Given the description of an element on the screen output the (x, y) to click on. 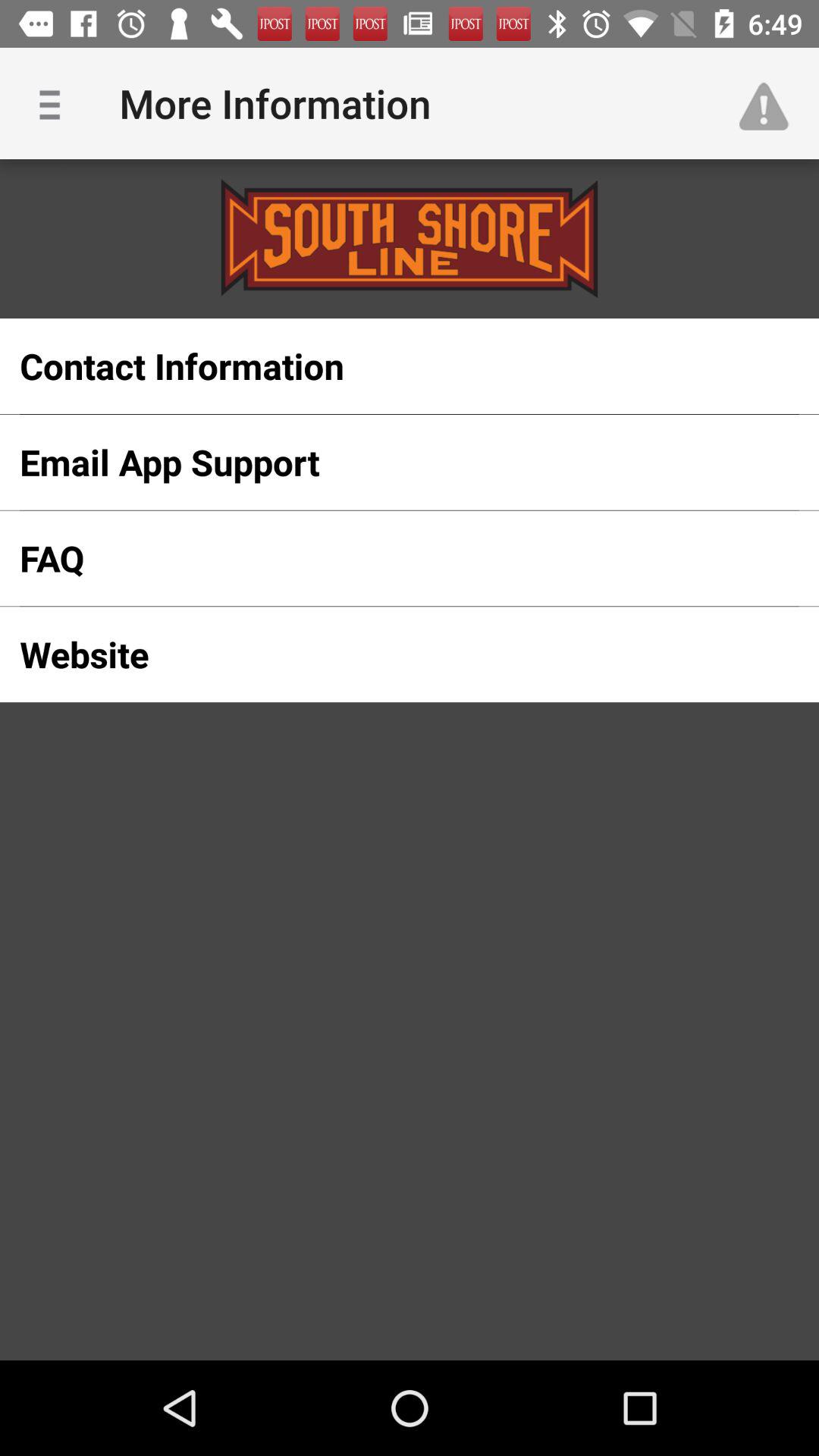
click the icon below the faq item (385, 654)
